Given the description of an element on the screen output the (x, y) to click on. 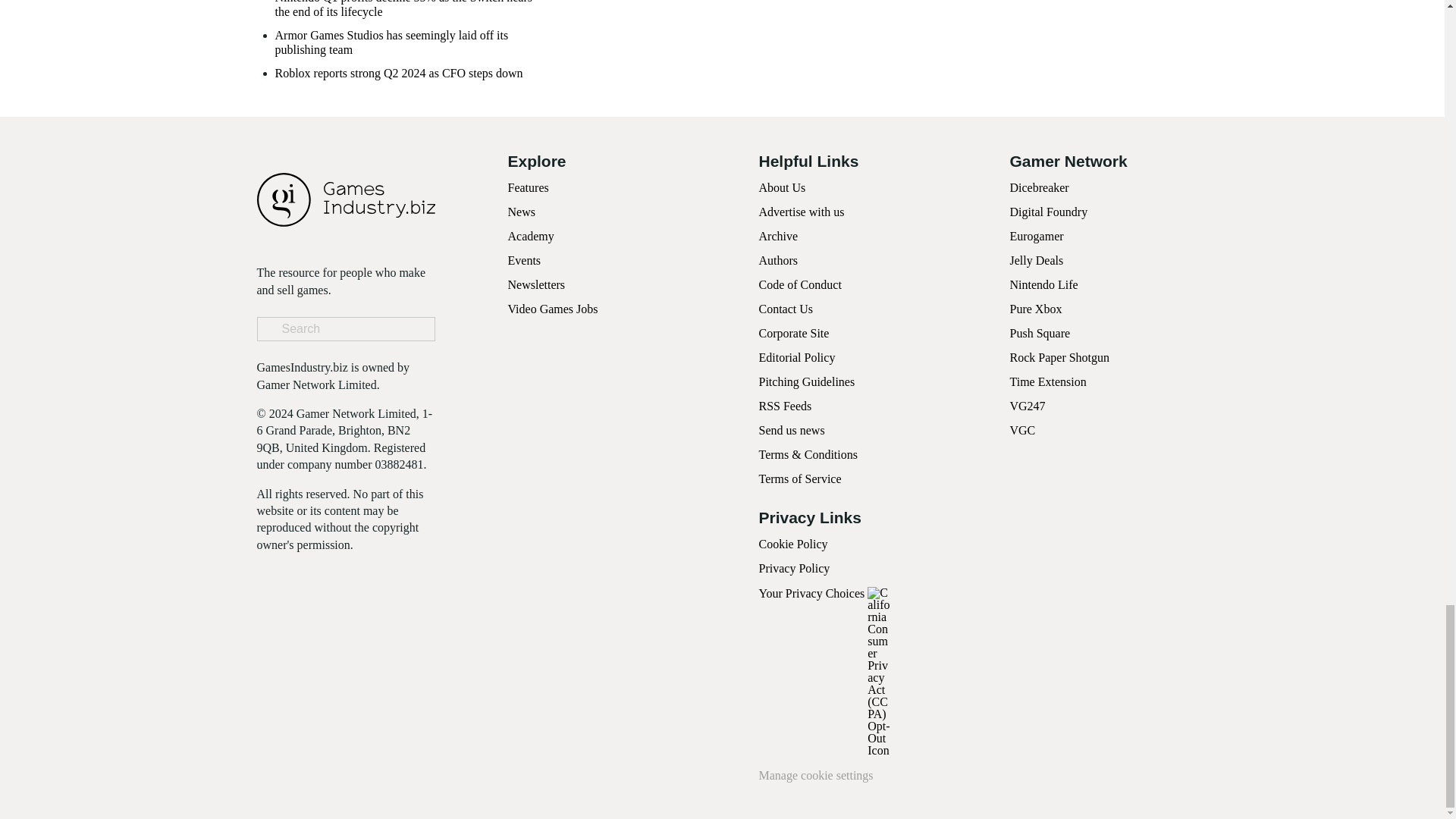
Video Games Jobs (553, 308)
News (521, 211)
Events (524, 259)
Features (528, 187)
Newsletters (537, 284)
Advertise with us (801, 211)
Archive (777, 236)
Roblox reports strong Q2 2024 as CFO steps down (398, 73)
Academy (531, 236)
About Us (781, 187)
